Given the description of an element on the screen output the (x, y) to click on. 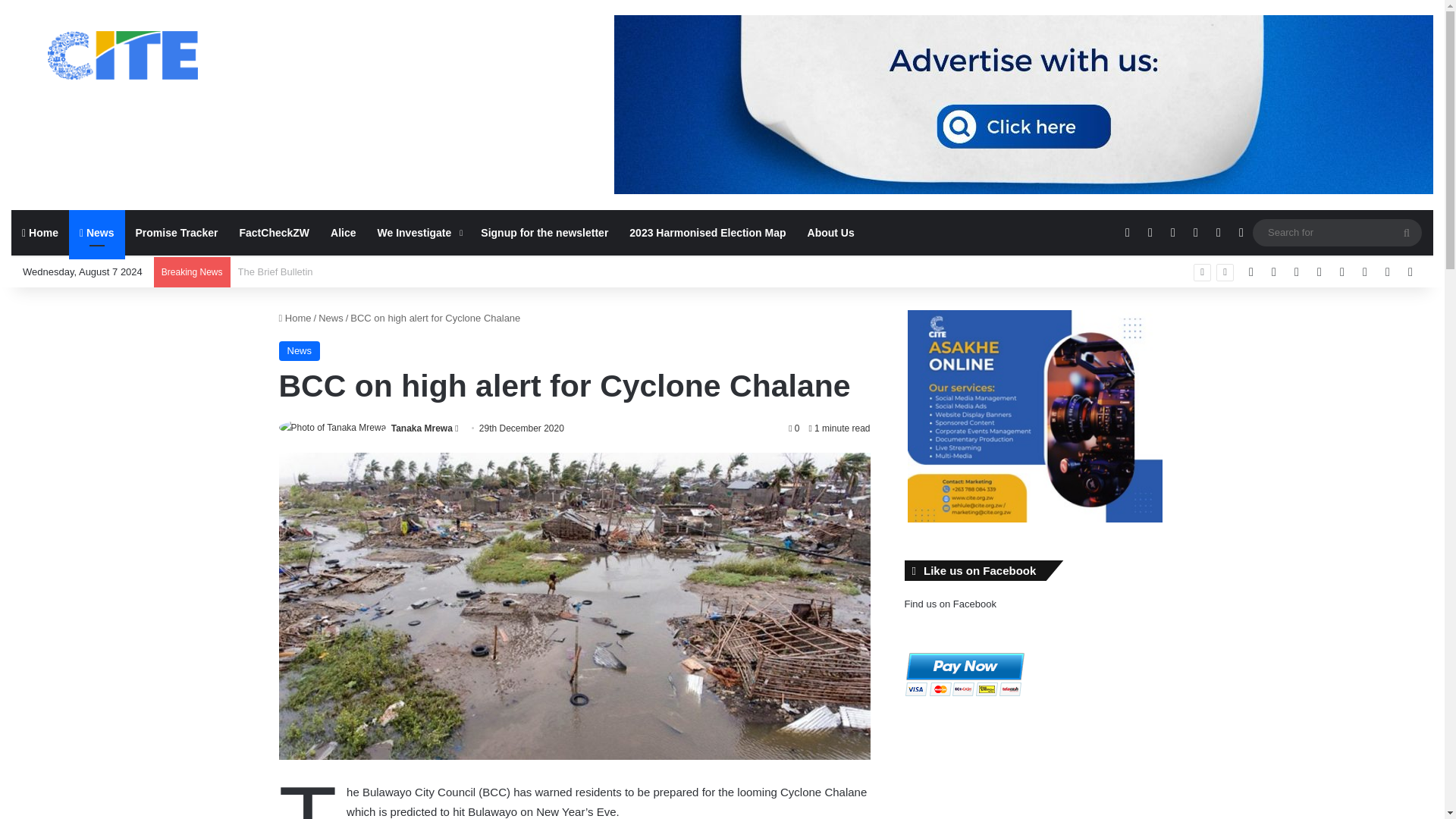
News (96, 232)
Signup for the newsletter (544, 232)
Promise Tracker (176, 232)
The Brief Bulletin (275, 271)
Search for (1337, 231)
2023 Harmonised Election Map (707, 232)
Home (39, 232)
News (299, 351)
Search for (1406, 232)
News (330, 317)
Tanaka Mrewa (421, 428)
Home (295, 317)
Tanaka Mrewa (421, 428)
FactCheckZW (274, 232)
Alice (343, 232)
